Given the description of an element on the screen output the (x, y) to click on. 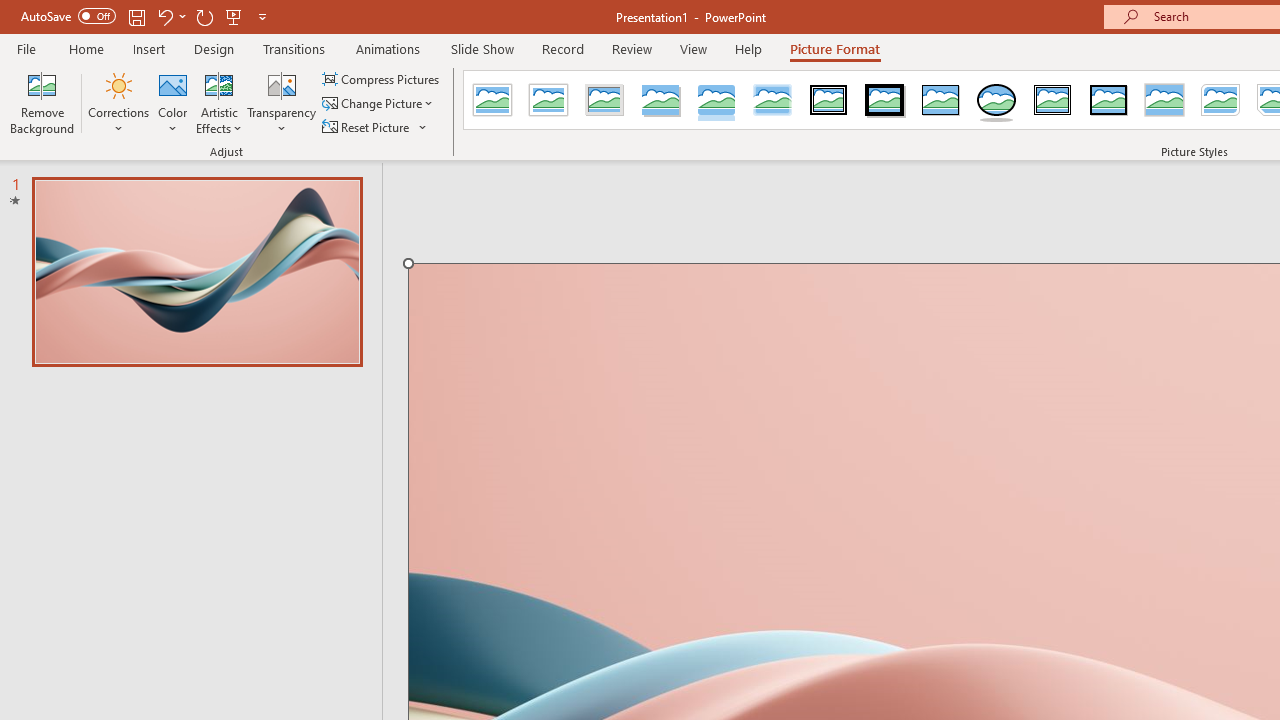
Picture Format (834, 48)
Change Picture (379, 103)
